Given the description of an element on the screen output the (x, y) to click on. 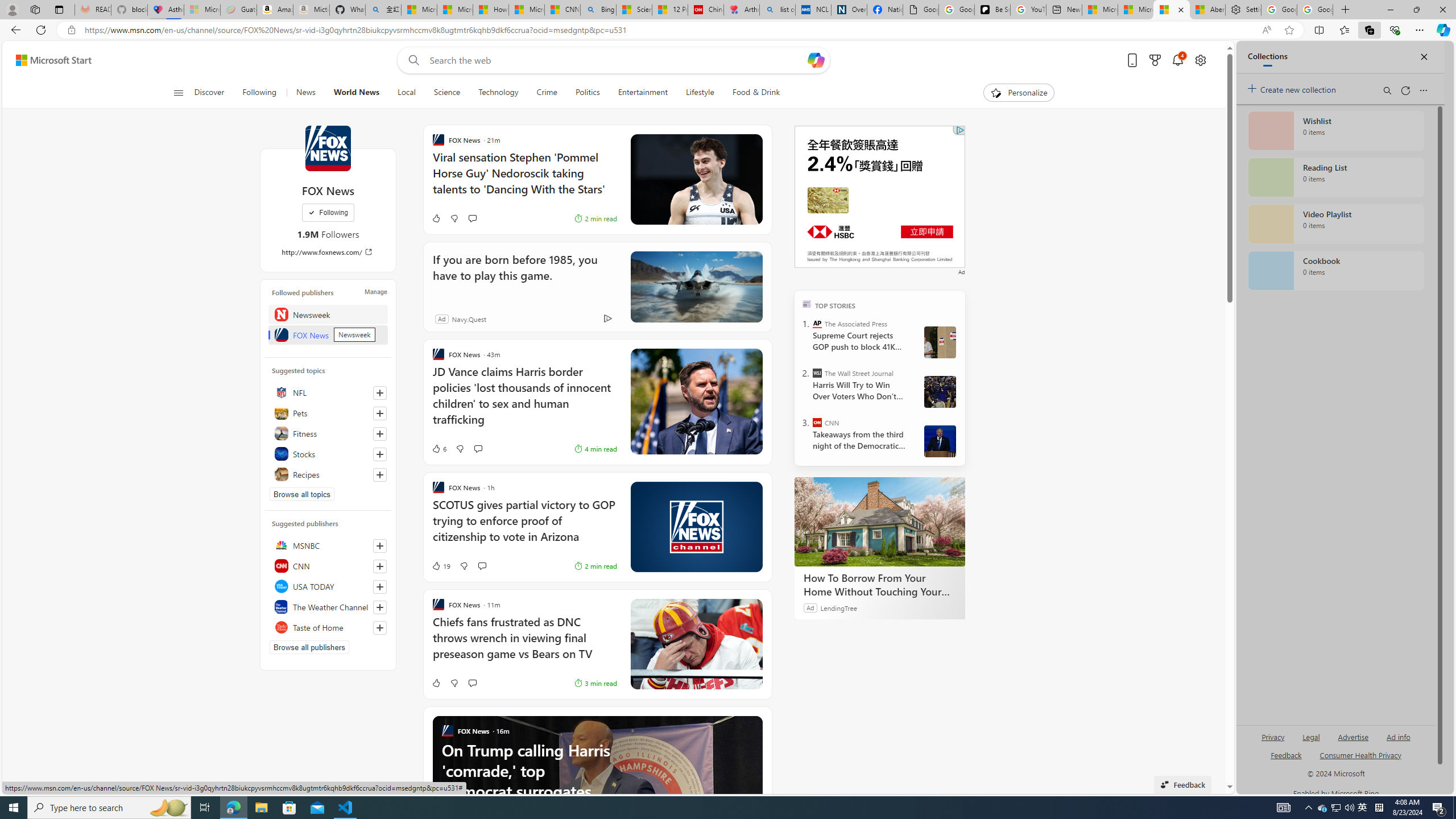
Newsweek (327, 314)
Follow this source (379, 627)
